Given the description of an element on the screen output the (x, y) to click on. 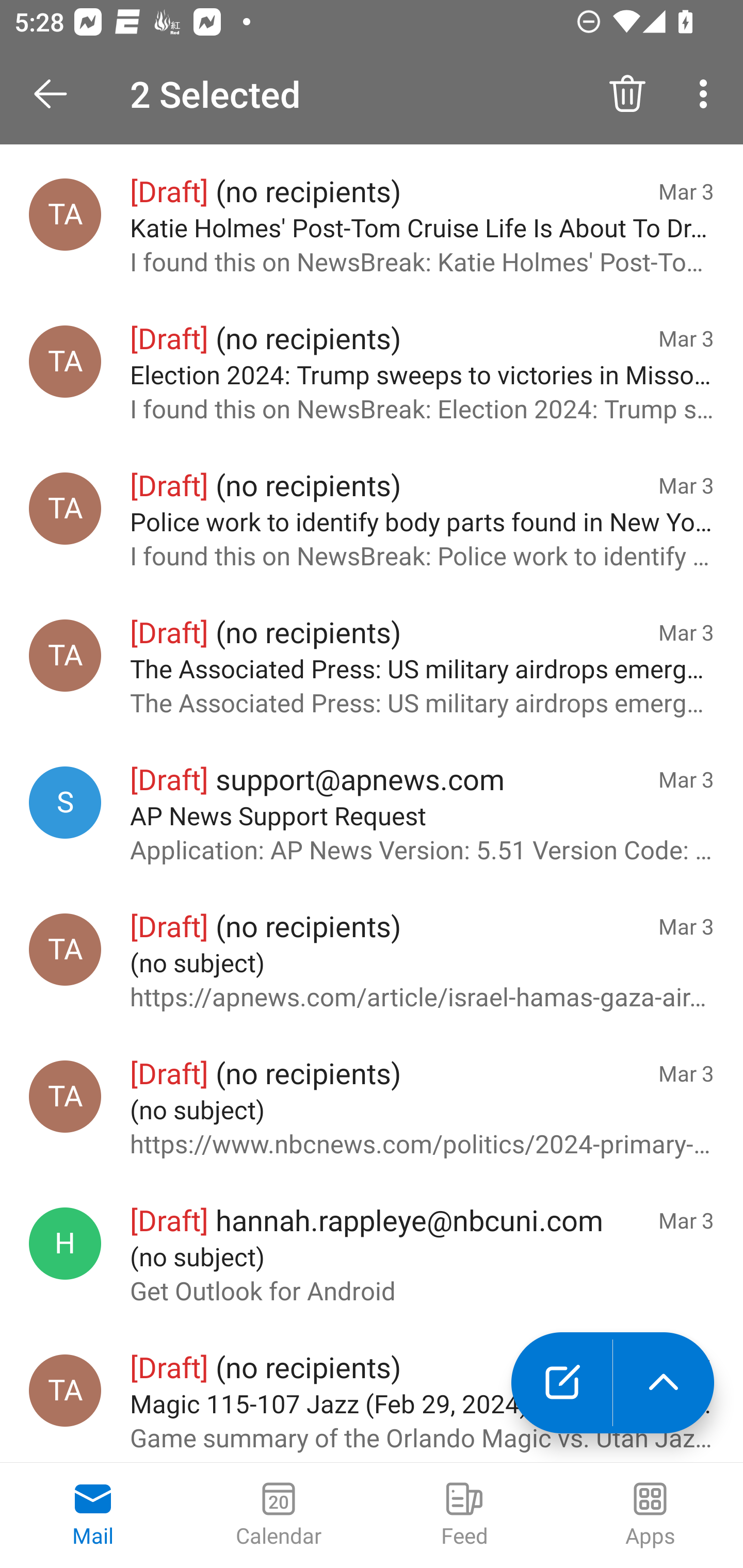
Delete (626, 93)
More options (706, 93)
Open Navigation Drawer (57, 94)
Test Appium, testappium002@outlook.com (64, 214)
Test Appium, testappium002@outlook.com (64, 362)
Test Appium, testappium002@outlook.com (64, 507)
Test Appium, testappium002@outlook.com (64, 655)
support@apnews.com (64, 802)
Test Appium, testappium002@outlook.com (64, 950)
Test Appium, testappium002@outlook.com (64, 1095)
hannah.rappleye@nbcuni.com (64, 1243)
New mail (561, 1382)
launch the extended action menu (663, 1382)
Test Appium, testappium002@outlook.com (64, 1390)
Calendar (278, 1515)
Feed (464, 1515)
Apps (650, 1515)
